Given the description of an element on the screen output the (x, y) to click on. 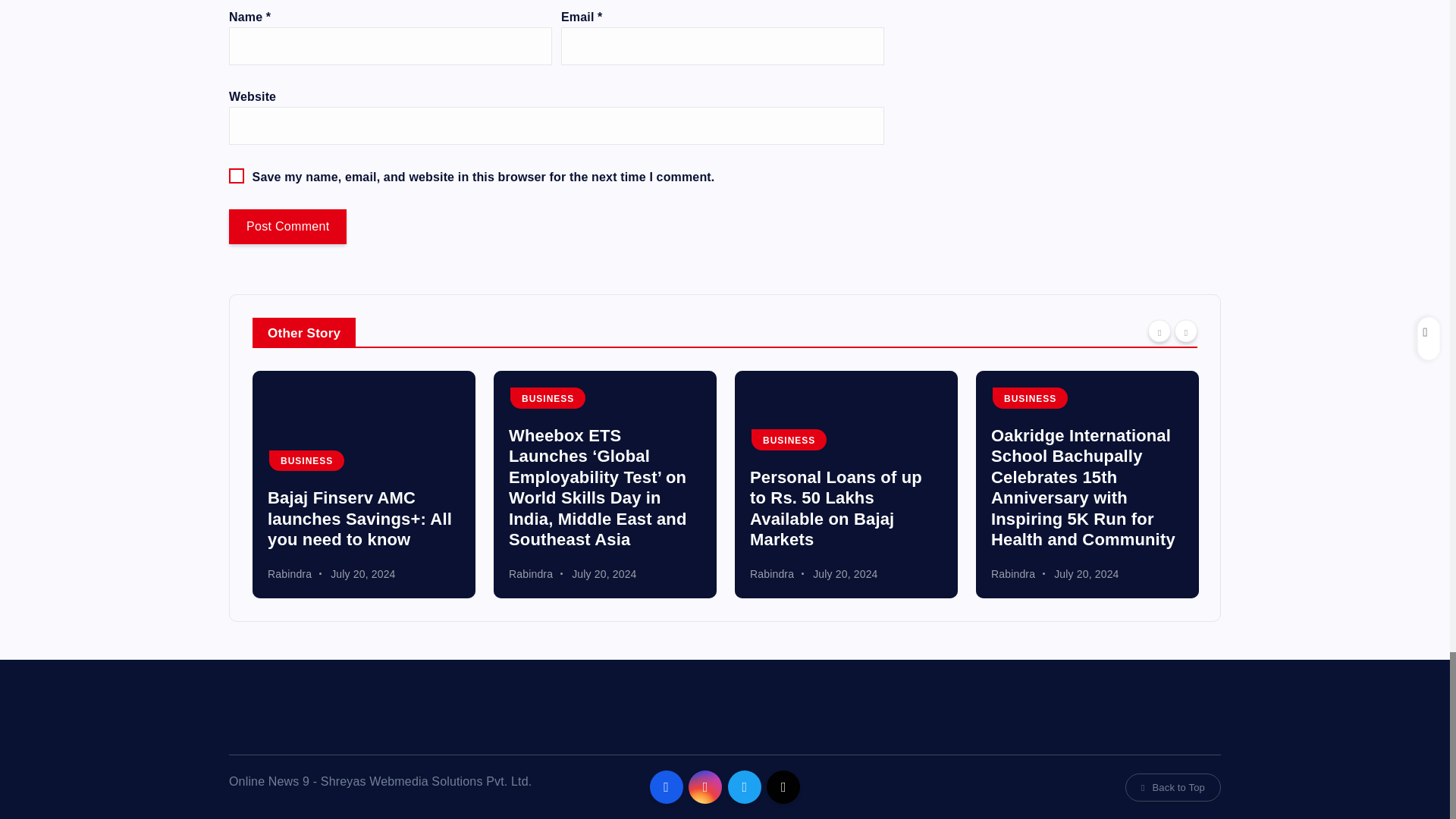
yes (236, 175)
Post Comment (287, 226)
